Given the description of an element on the screen output the (x, y) to click on. 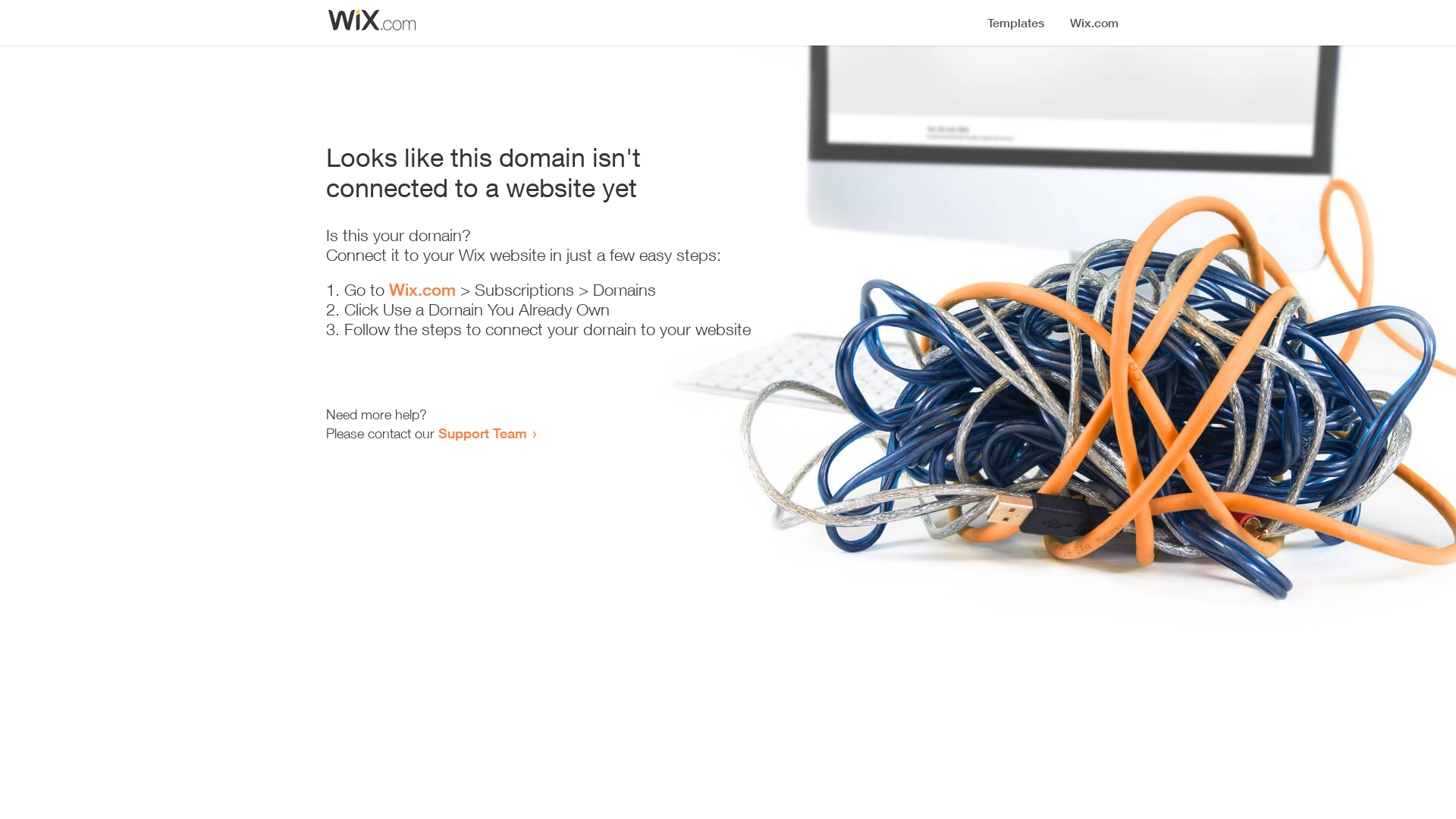
Support Team Element type: text (482, 432)
Wix.com Element type: text (422, 289)
